Given the description of an element on the screen output the (x, y) to click on. 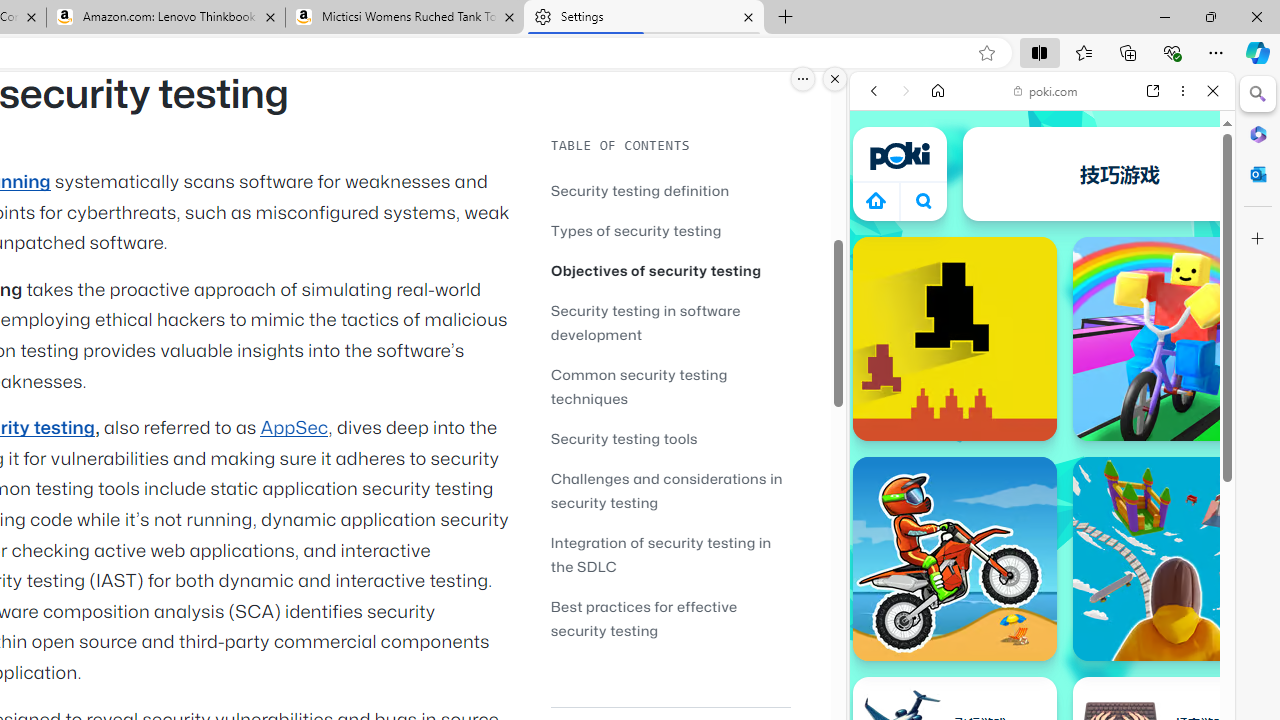
Global web icon (888, 288)
Objectives of security testing (655, 270)
VIDEOS (1006, 228)
Security testing definition (639, 190)
Rainbow Obby (1174, 338)
Best practices for effective security testing (644, 618)
Objectives of security testing (670, 269)
Types of security testing (670, 230)
SimplyUp.io (1174, 558)
Level Devil (954, 338)
Best practices for effective security testing (670, 618)
Io Games (1042, 616)
Microsoft 365 (1258, 133)
Show More Io Games (1164, 619)
Level Devil Level Devil (954, 338)
